Given the description of an element on the screen output the (x, y) to click on. 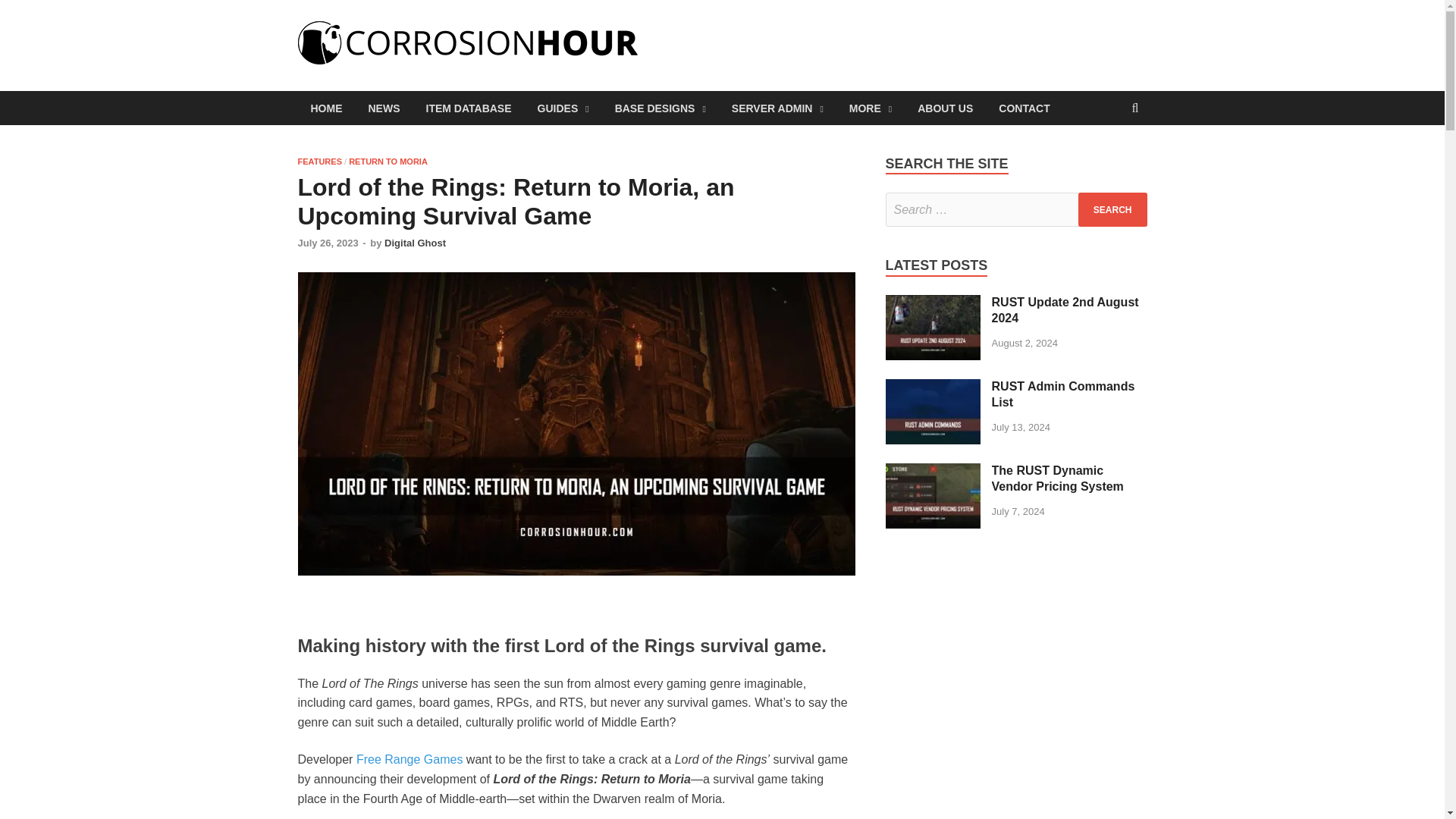
Search (1112, 209)
HOME (326, 107)
NEWS (383, 107)
SERVER ADMIN (777, 107)
RUST Admin Commands List (932, 387)
Corrosion Hour (749, 51)
MORE (869, 107)
GUIDES (563, 107)
RUST Update 2nd August 2024 (932, 303)
BASE DESIGNS (660, 107)
